Given the description of an element on the screen output the (x, y) to click on. 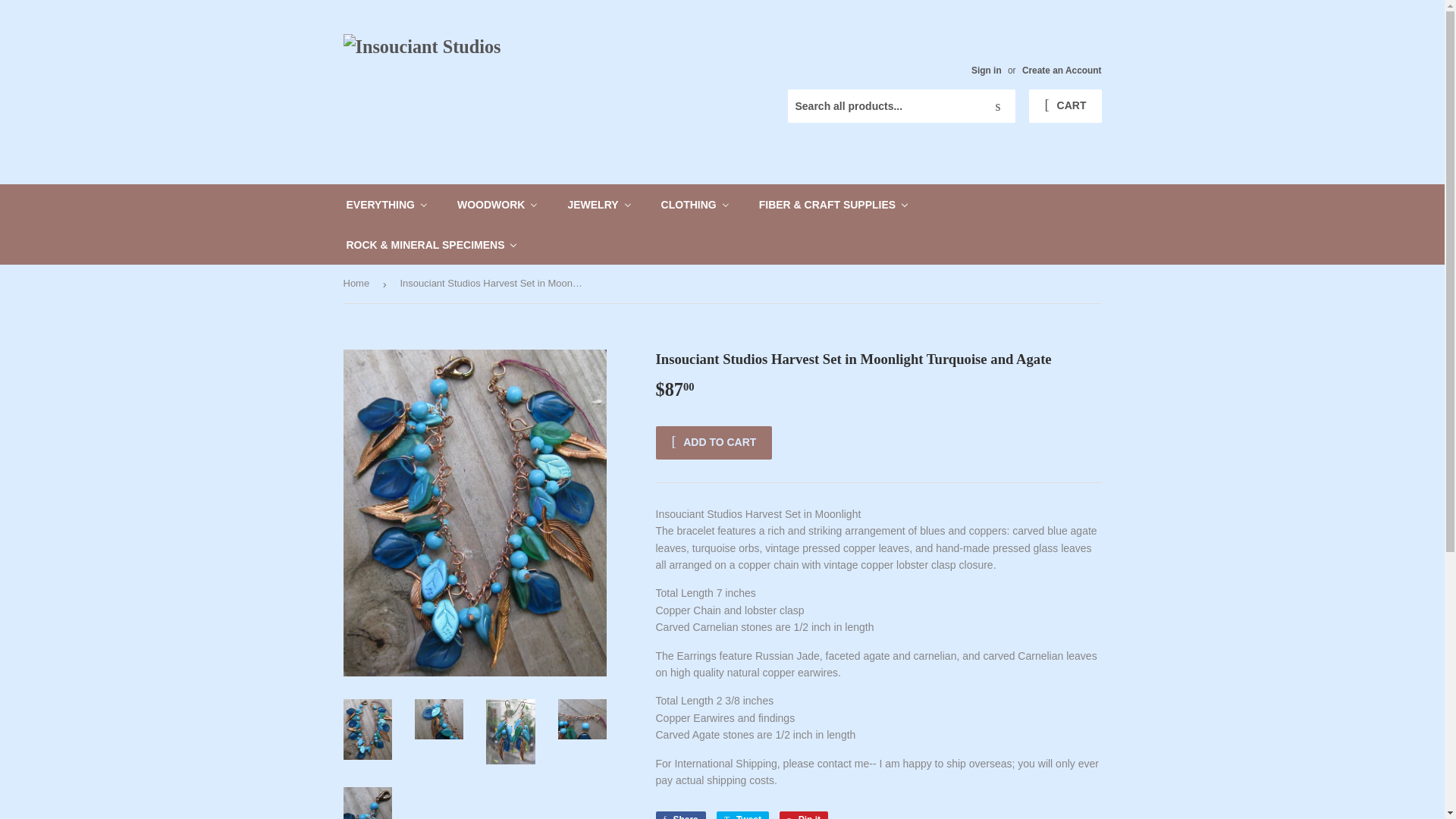
Share on Facebook (679, 815)
Tweet on Twitter (742, 815)
Search (997, 106)
CART (1064, 105)
Pin on Pinterest (803, 815)
Create an Account (1062, 70)
Sign in (986, 70)
